Given the description of an element on the screen output the (x, y) to click on. 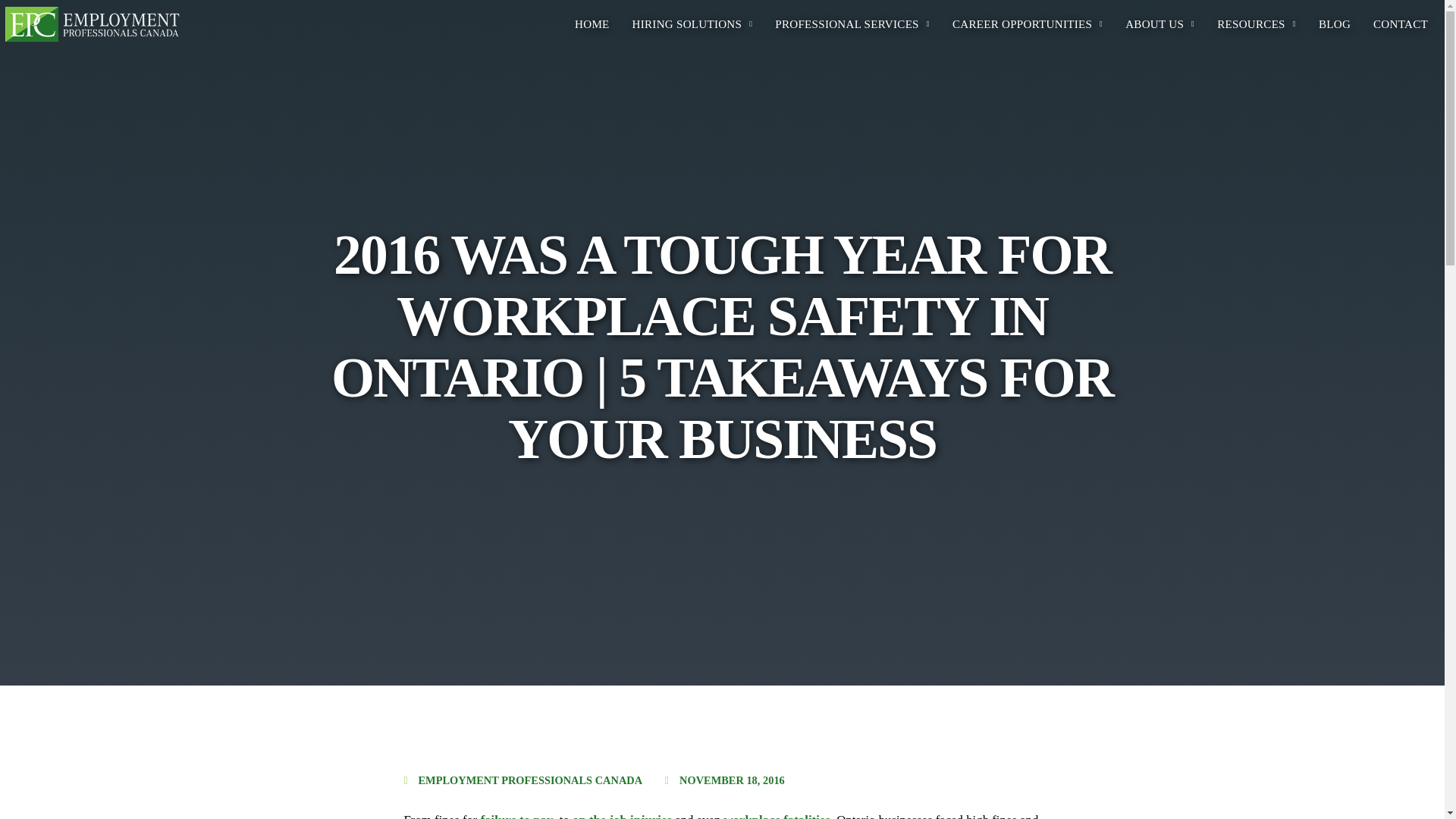
CAREER OPPORTUNITIES (1026, 23)
HOME (592, 23)
RESOURCES (1256, 23)
ABOUT US (1159, 23)
CONTACT (1400, 23)
PROFESSIONAL SERVICES (851, 23)
BLOG (1334, 23)
HIRING SOLUTIONS (692, 23)
